Given the description of an element on the screen output the (x, y) to click on. 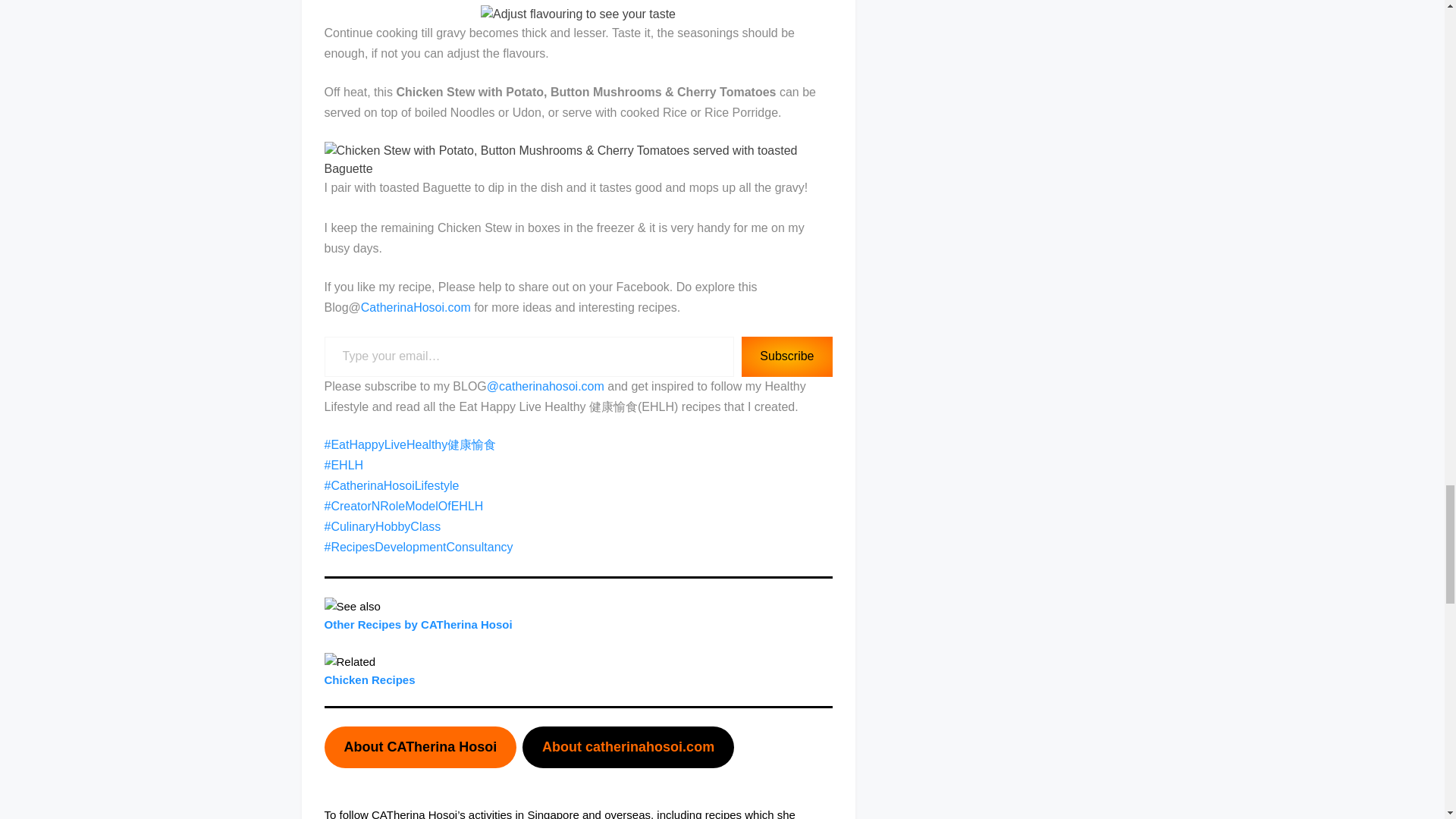
Please fill in this field. (529, 356)
Subscribe (786, 356)
CatherinaHosoi.com (415, 307)
About catherinahosoi.com (627, 747)
Chicken Recipes (369, 679)
Other Recipes by CATherina Hosoi (418, 624)
About CATherina Hosoi (420, 747)
